Given the description of an element on the screen output the (x, y) to click on. 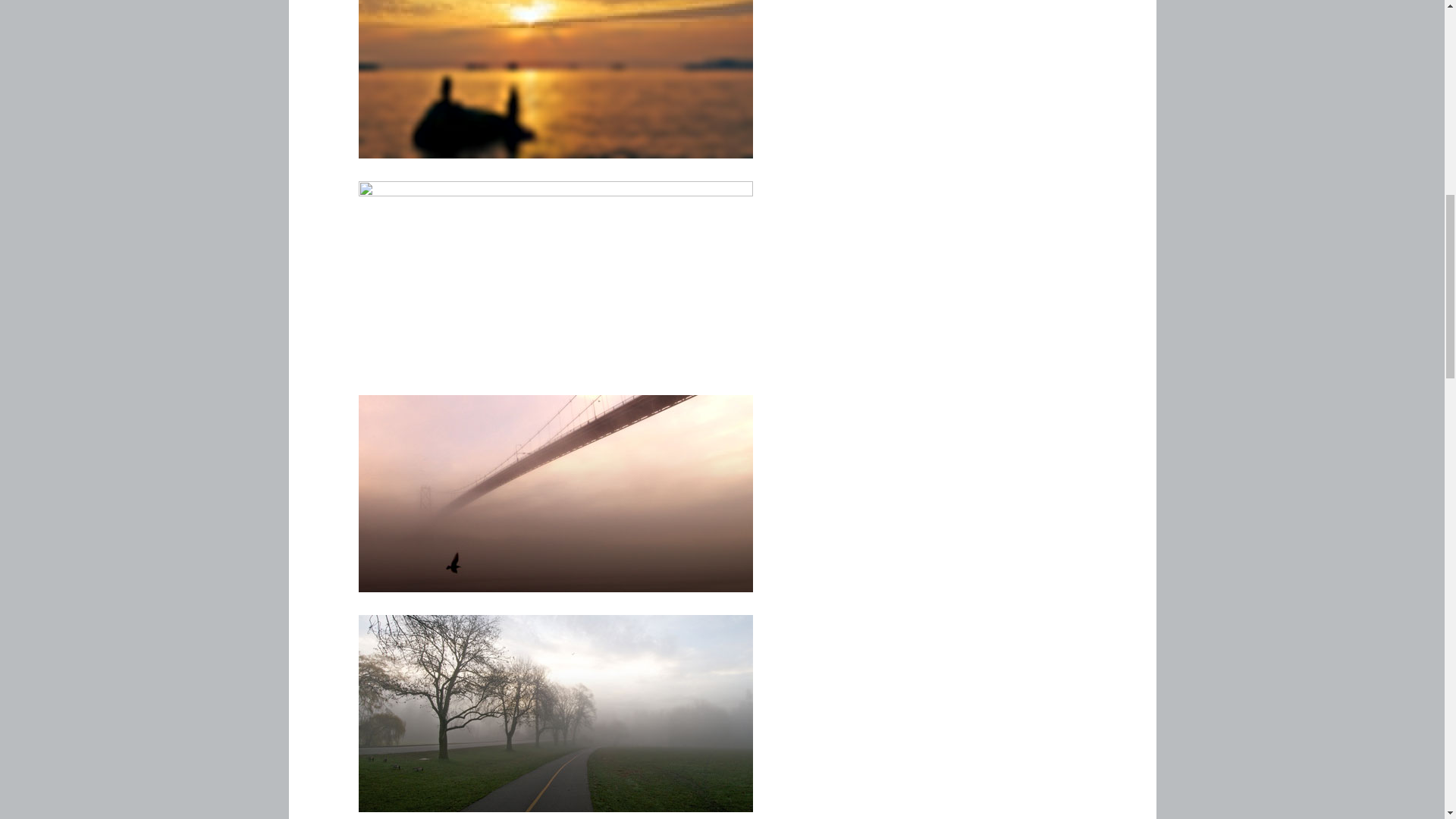
Twitter Header 02 by Duncan Rawlinson (555, 279)
Twitter Header 03 by Duncan Rawlinson (555, 493)
Twitter Header 04 by Duncan Rawlinson (555, 713)
Twitter Header by Duncan Rawlinson (555, 79)
